Given the description of an element on the screen output the (x, y) to click on. 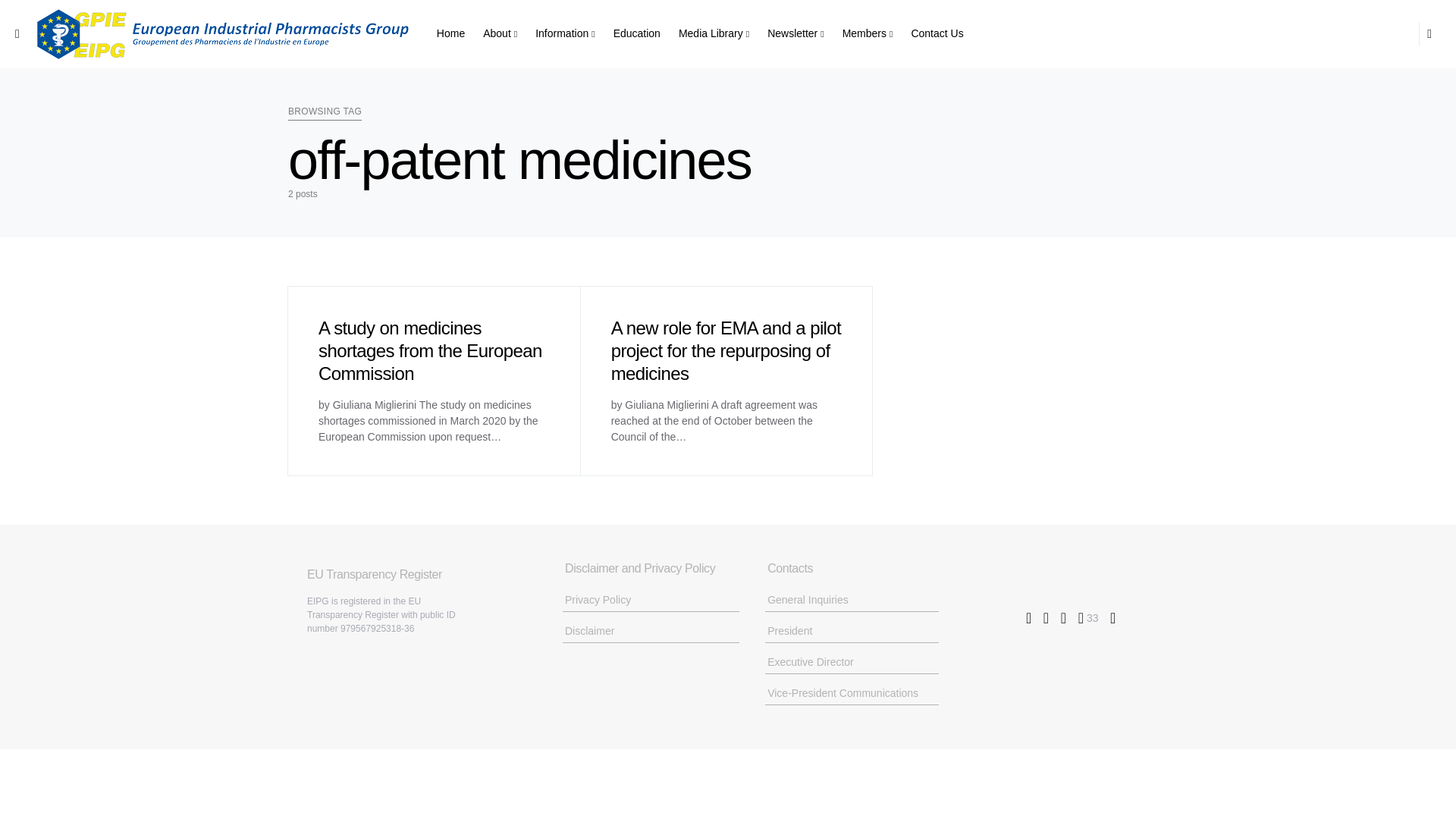
About (499, 33)
